Given the description of an element on the screen output the (x, y) to click on. 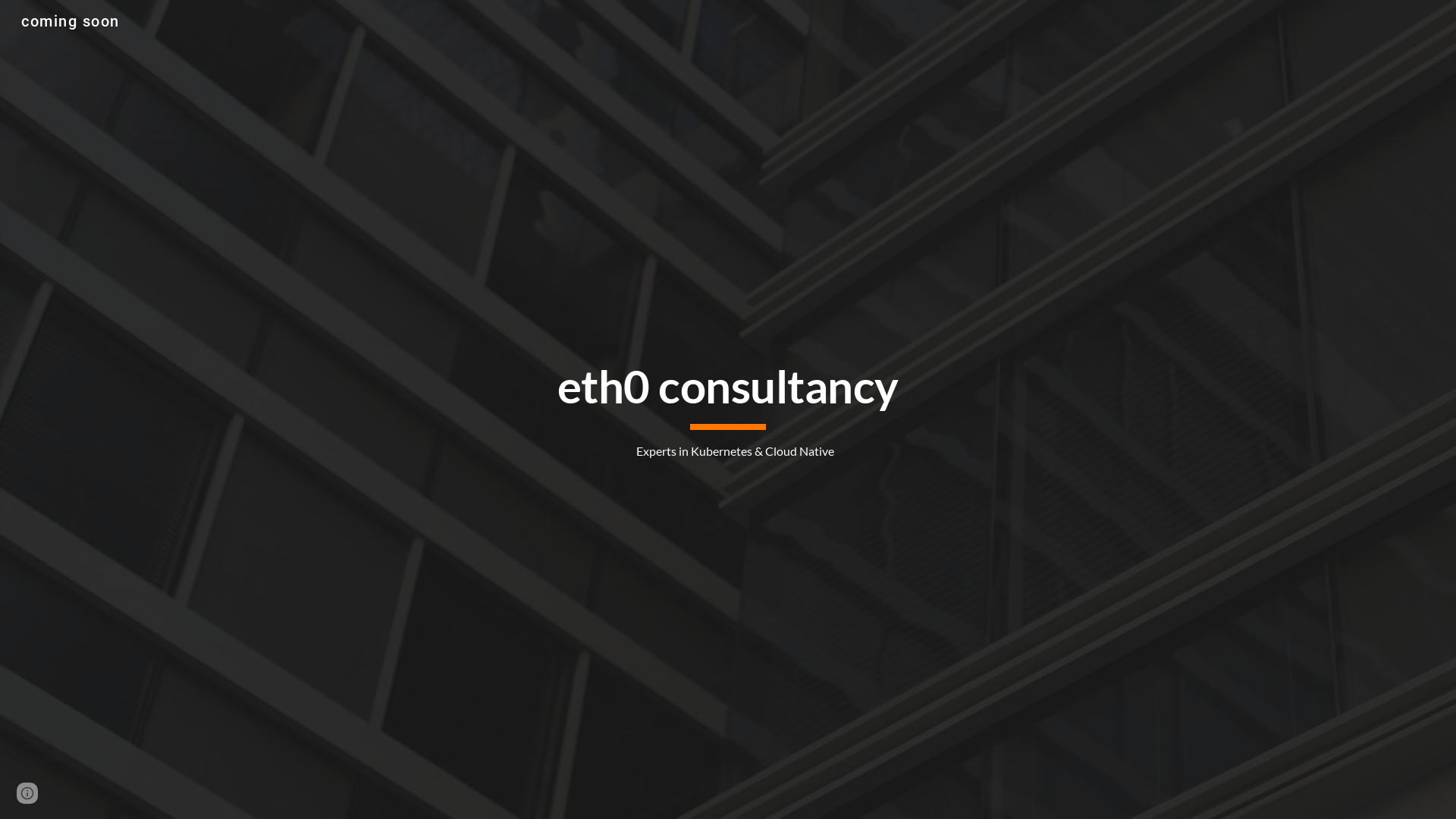
coming soon Element type: text (70, 19)
